Given the description of an element on the screen output the (x, y) to click on. 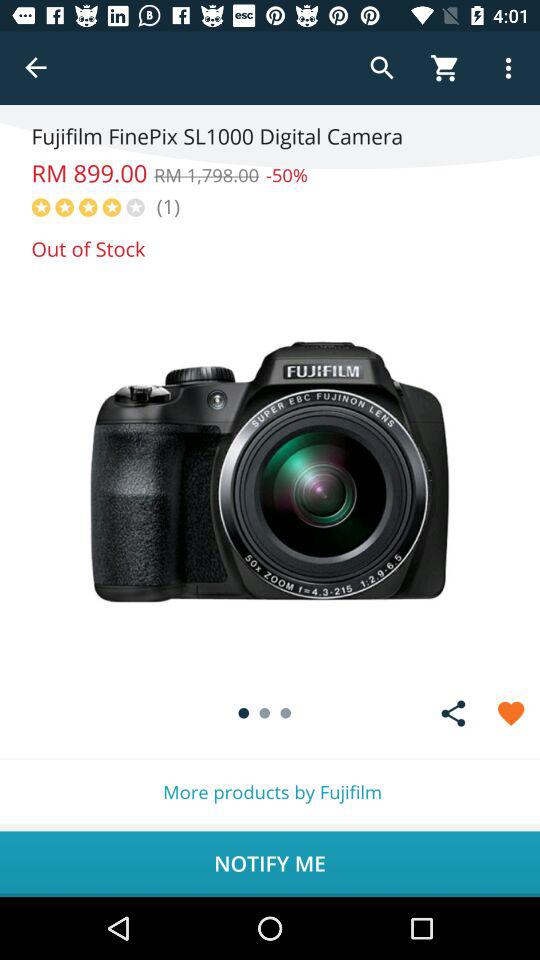
view images of the item (269, 472)
